Given the description of an element on the screen output the (x, y) to click on. 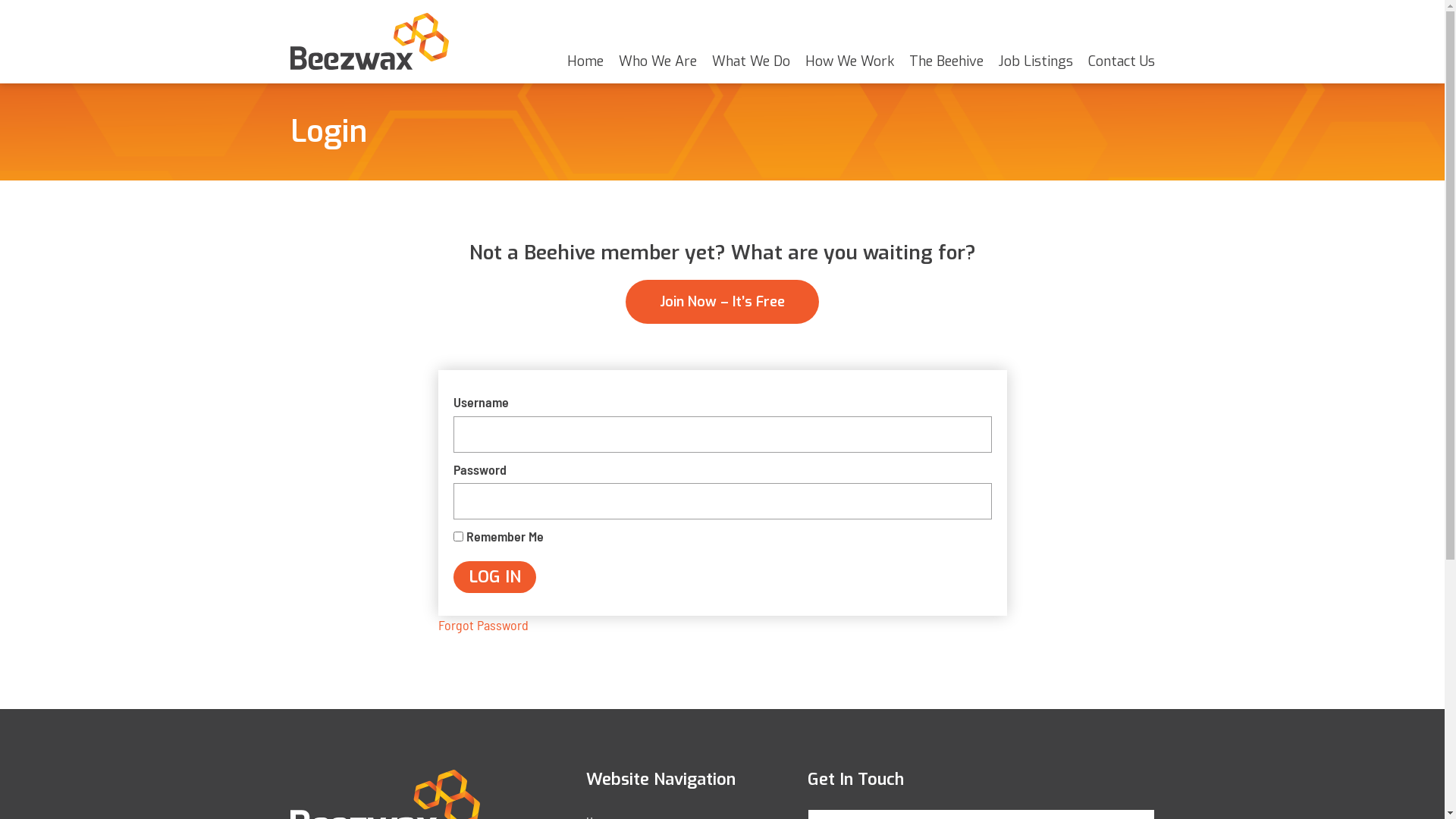
Home Element type: text (585, 61)
What We Do Element type: text (750, 61)
The Beehive Element type: text (945, 61)
How We Work Element type: text (849, 61)
Contact Us Element type: text (1120, 61)
Who We Are Element type: text (657, 61)
Log In Element type: text (494, 577)
Forgot Password Element type: text (483, 624)
Job Listings Element type: text (1034, 61)
